Given the description of an element on the screen output the (x, y) to click on. 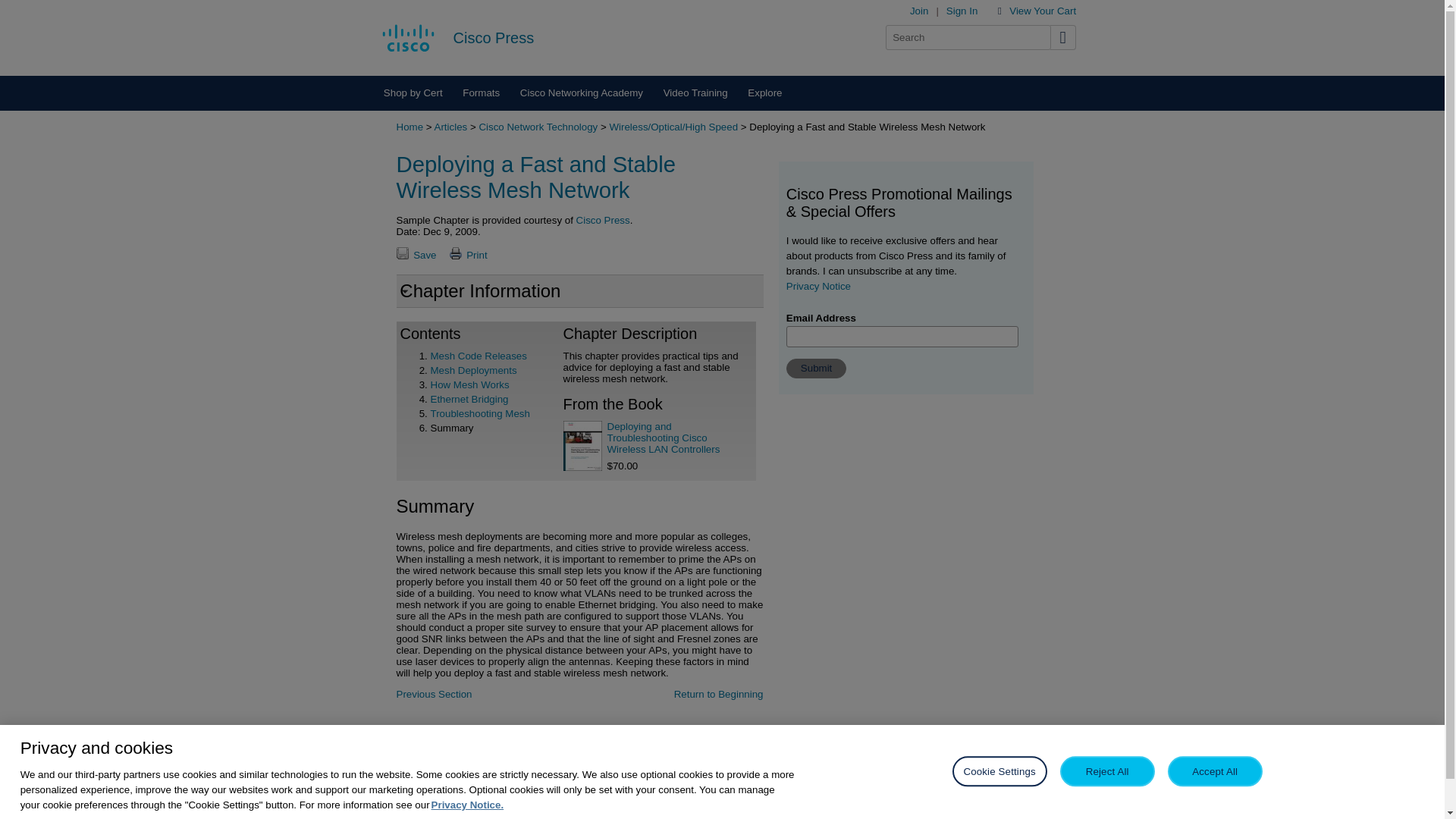
Join (919, 10)
Cisco.com (408, 37)
Explore (765, 92)
Cisco Networking Academy (580, 92)
Video Training (695, 92)
View Your Cart (1042, 10)
Shop by Cert (411, 92)
Formats (481, 92)
Submit (815, 368)
Sign In (962, 10)
